Given the description of an element on the screen output the (x, y) to click on. 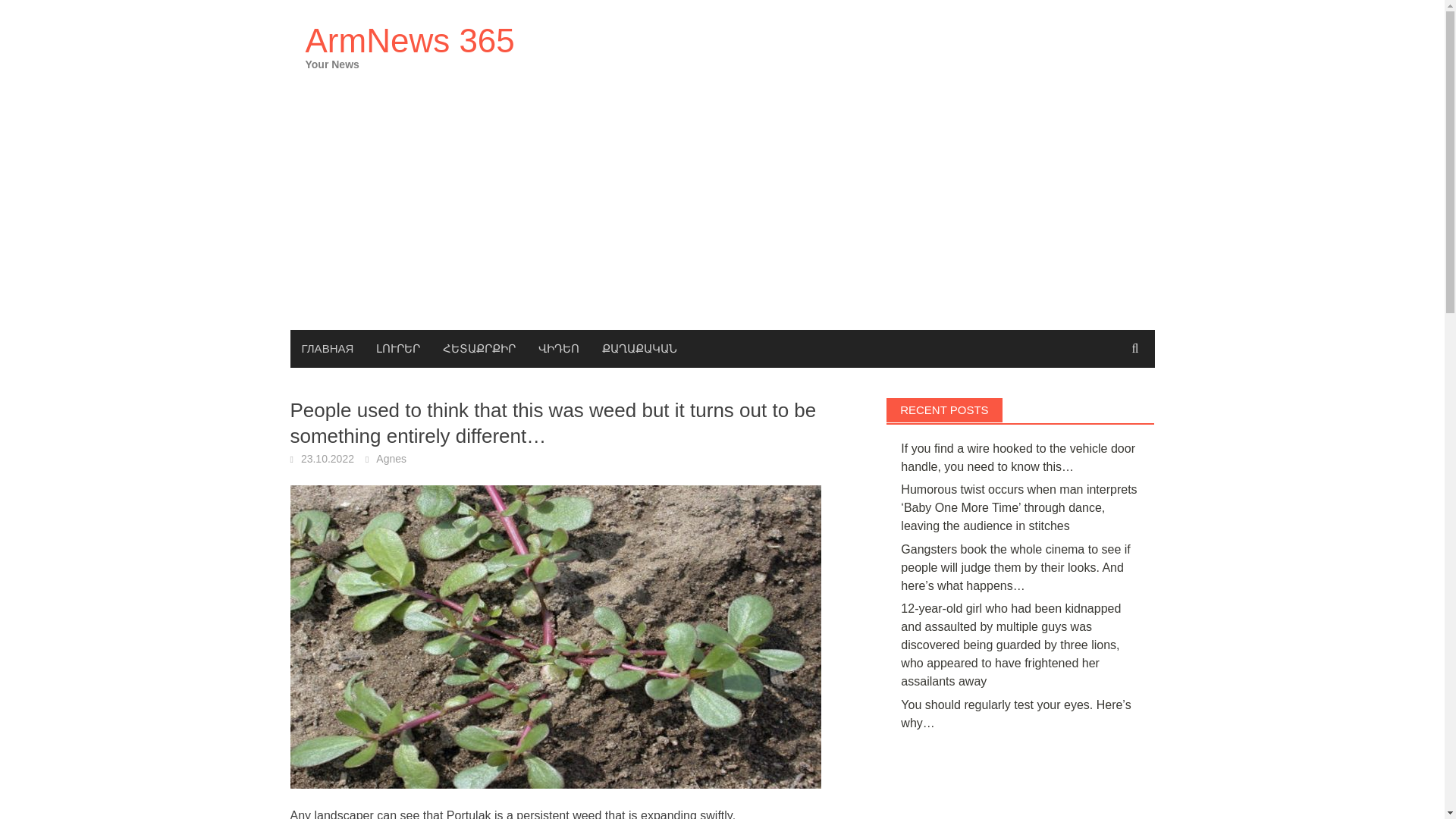
Agnes (390, 458)
ArmNews 365 (408, 40)
23.10.2022 (327, 458)
